Given the description of an element on the screen output the (x, y) to click on. 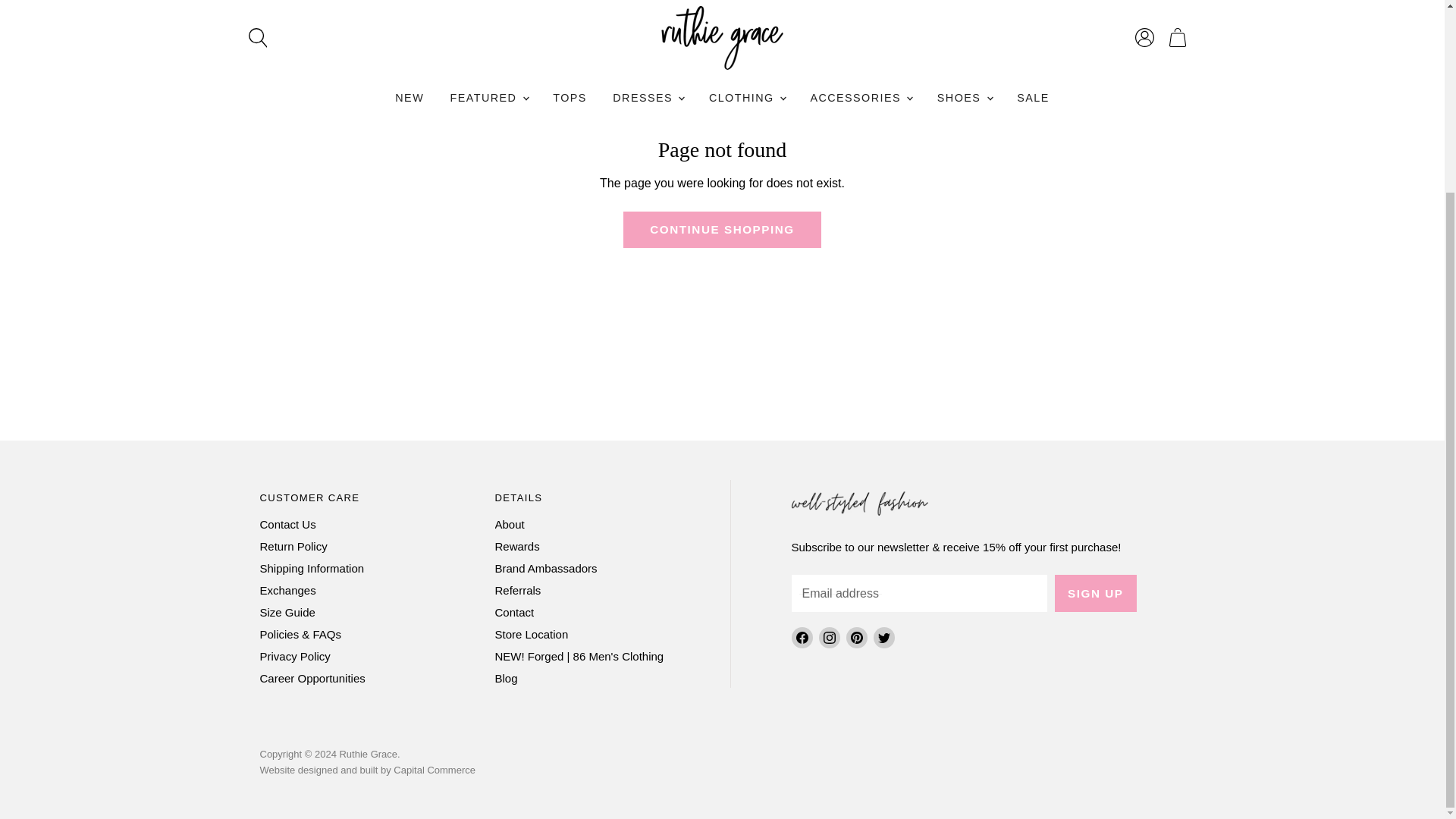
Twitter (884, 637)
Instagram (829, 637)
Facebook (802, 637)
FEATURED (488, 40)
NEW (409, 40)
Pinterest (856, 637)
